Given the description of an element on the screen output the (x, y) to click on. 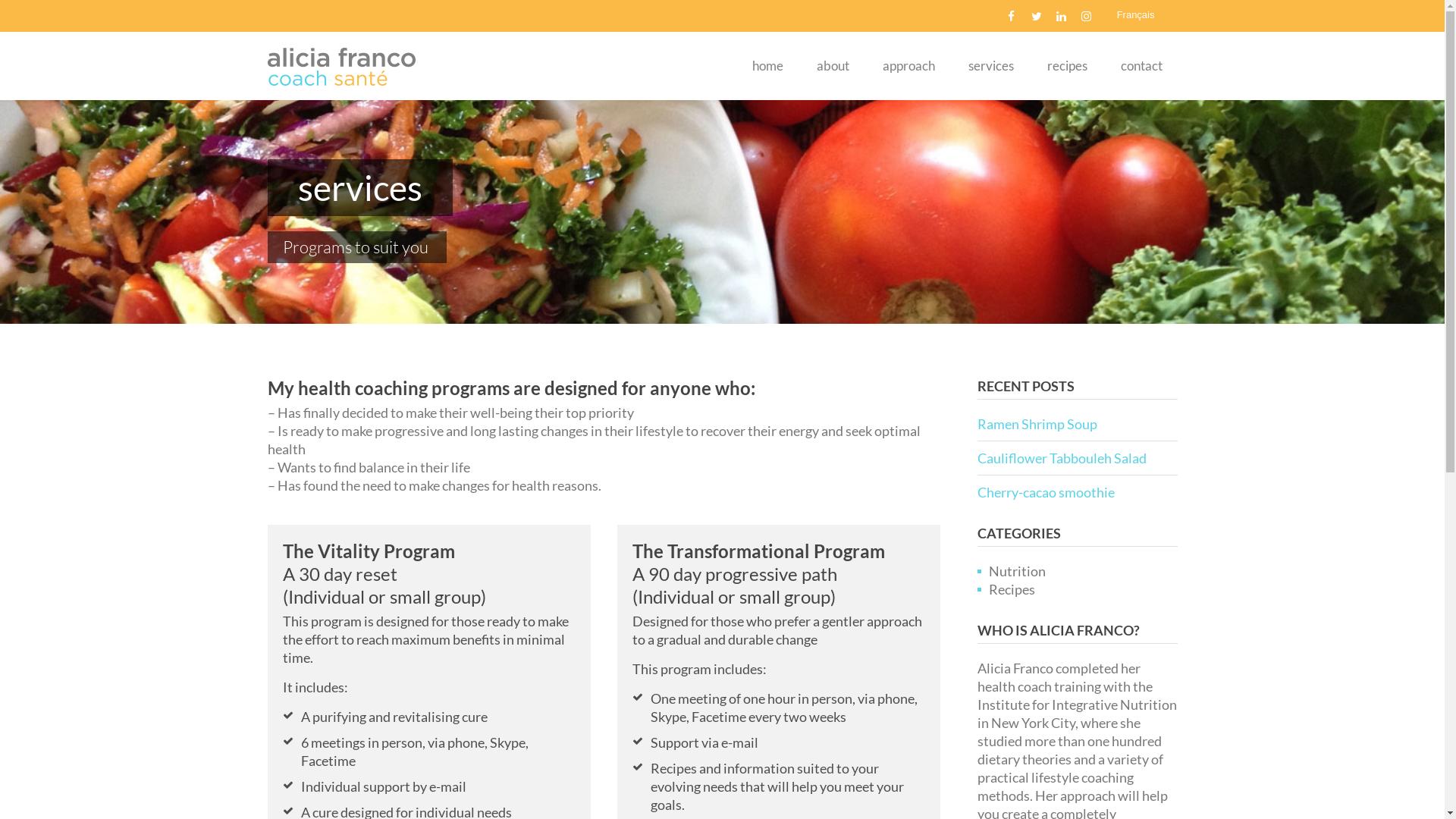
Cauliflower Tabbouleh Salad Element type: text (1076, 457)
services Element type: text (990, 65)
twitter Element type: hover (1036, 16)
facebook Element type: hover (1011, 16)
instagram Element type: hover (1086, 16)
Cherry-cacao smoothie Element type: text (1076, 492)
Nutrition Element type: text (1010, 570)
recipes Element type: text (1066, 65)
home Element type: text (767, 65)
about Element type: text (831, 65)
approach Element type: text (908, 65)
contact Element type: text (1141, 65)
Alicia Franco Element type: hover (340, 65)
linkedin Element type: hover (1061, 16)
Ramen Shrimp Soup Element type: text (1076, 423)
Recipes Element type: text (1005, 589)
